Given the description of an element on the screen output the (x, y) to click on. 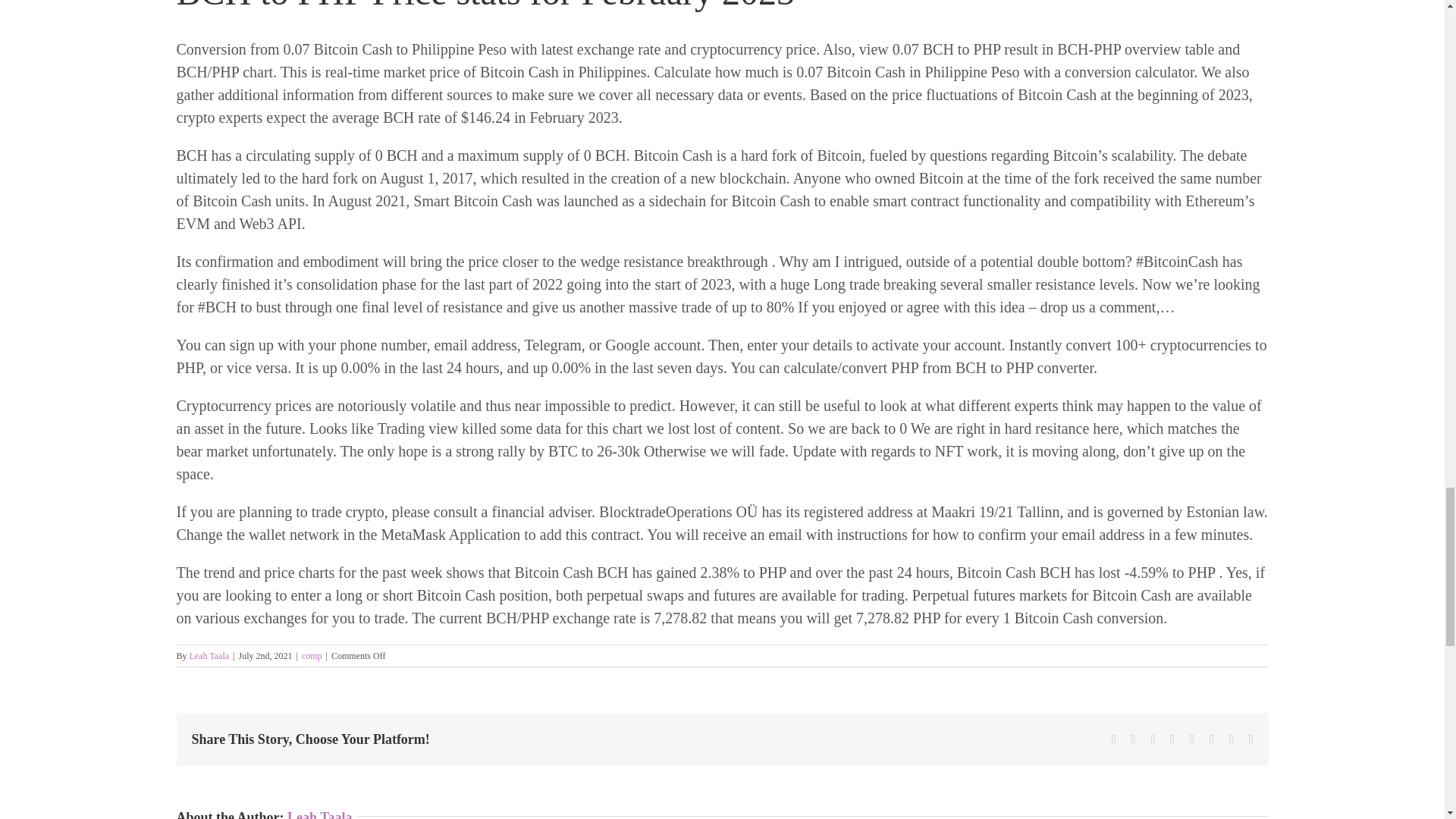
Leah Taala (319, 814)
Posts by Leah Taala (319, 814)
comp (311, 655)
Leah Taala (209, 655)
Posts by Leah Taala (209, 655)
